Given the description of an element on the screen output the (x, y) to click on. 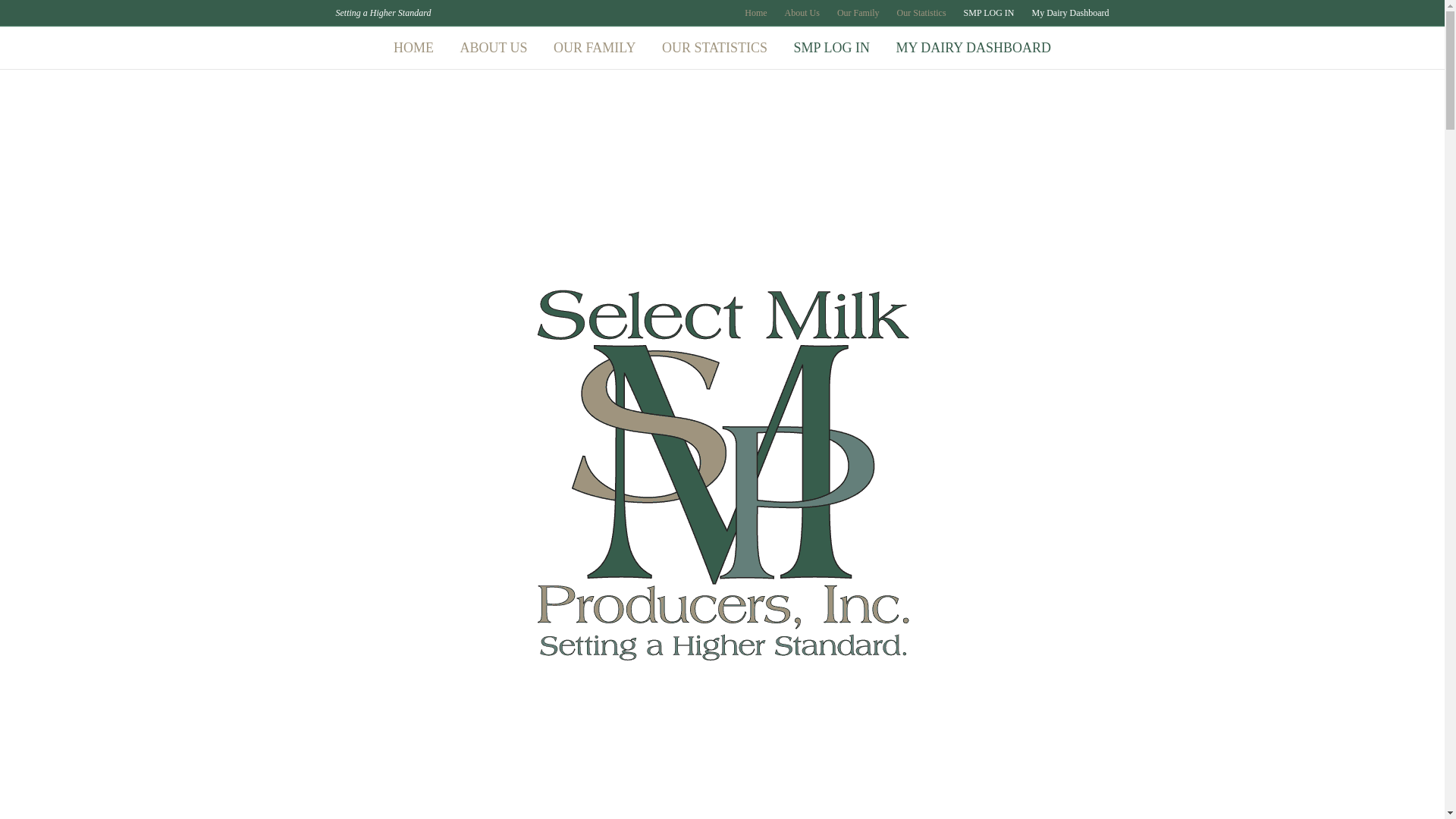
OUR FAMILY (593, 47)
Our Family (857, 13)
Home (755, 13)
ABOUT US (493, 47)
My Dairy Dashboard (1070, 13)
Our Statistics (921, 13)
SMP LOG IN (989, 13)
About Us (802, 13)
HOME (413, 47)
